Given the description of an element on the screen output the (x, y) to click on. 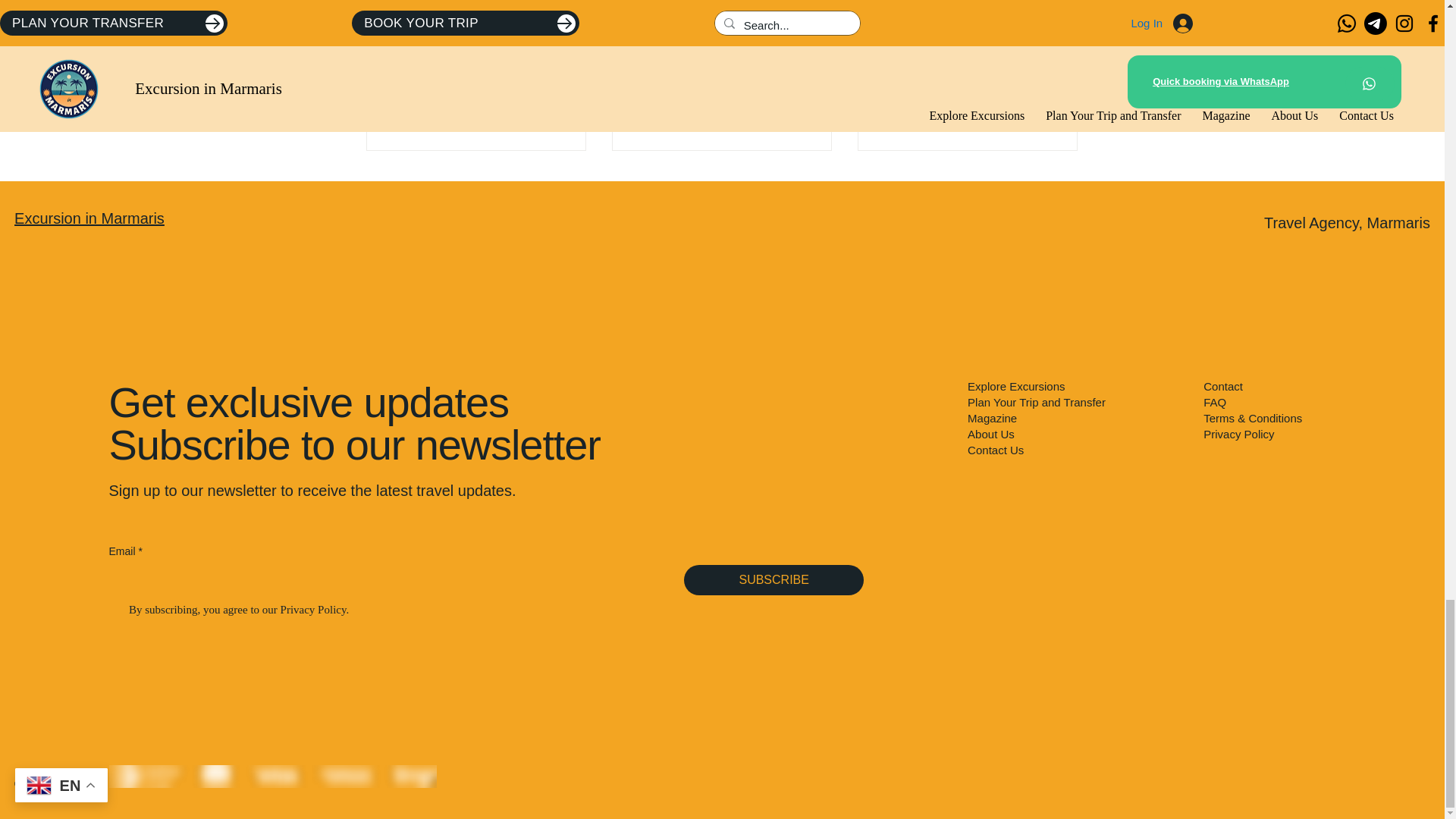
Excursion in Marmaris (89, 217)
Embrace the Beauty of Hiking in Marmaris (967, 106)
Top 10 Must-Visit Excursions in Marmaris (721, 106)
Exploring the Charms of Marmaris and Akyaka (476, 106)
